Given the description of an element on the screen output the (x, y) to click on. 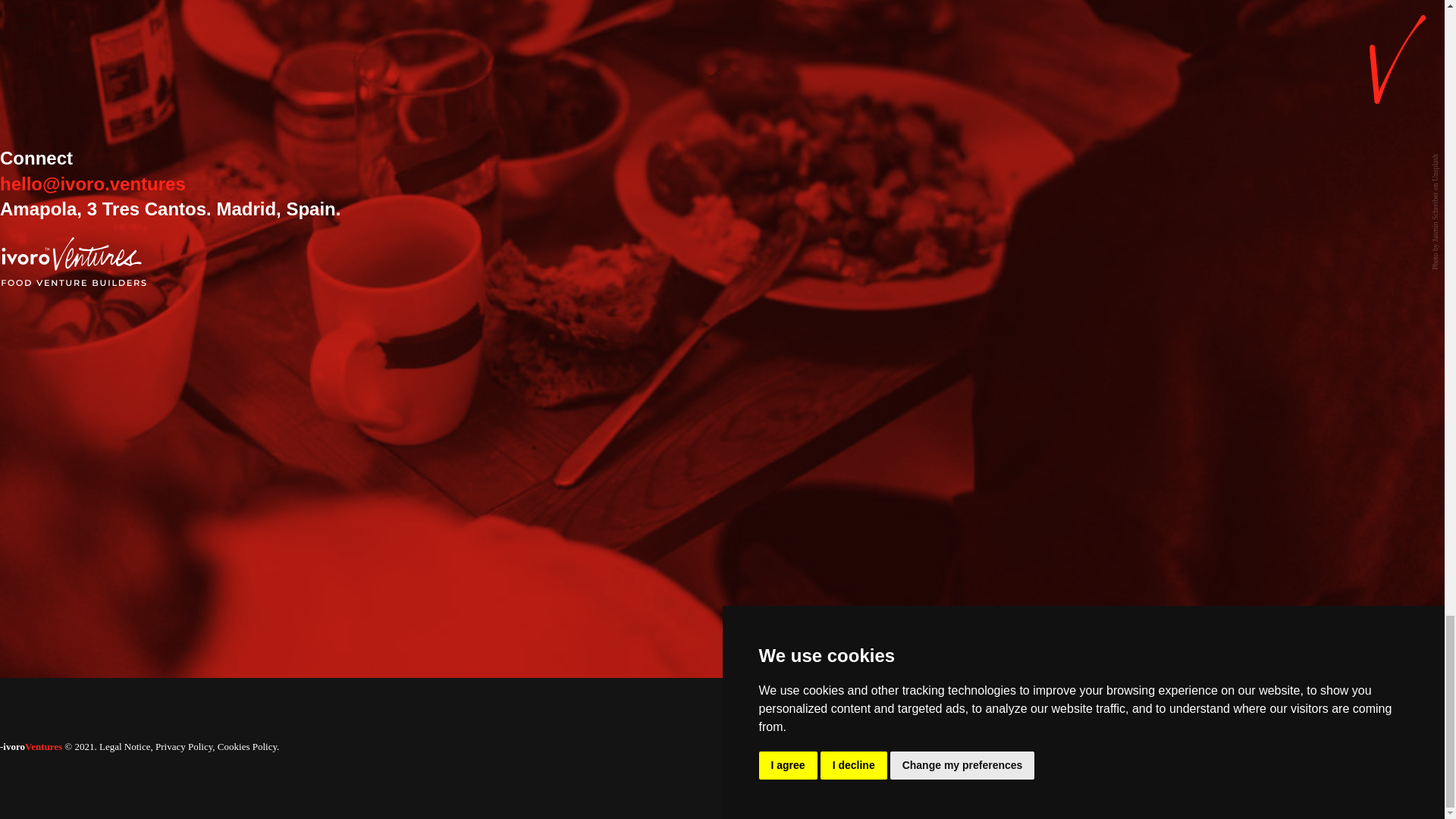
Privacy Policy (183, 746)
Cookies Policy (246, 746)
Legal Notice (125, 746)
